Given the description of an element on the screen output the (x, y) to click on. 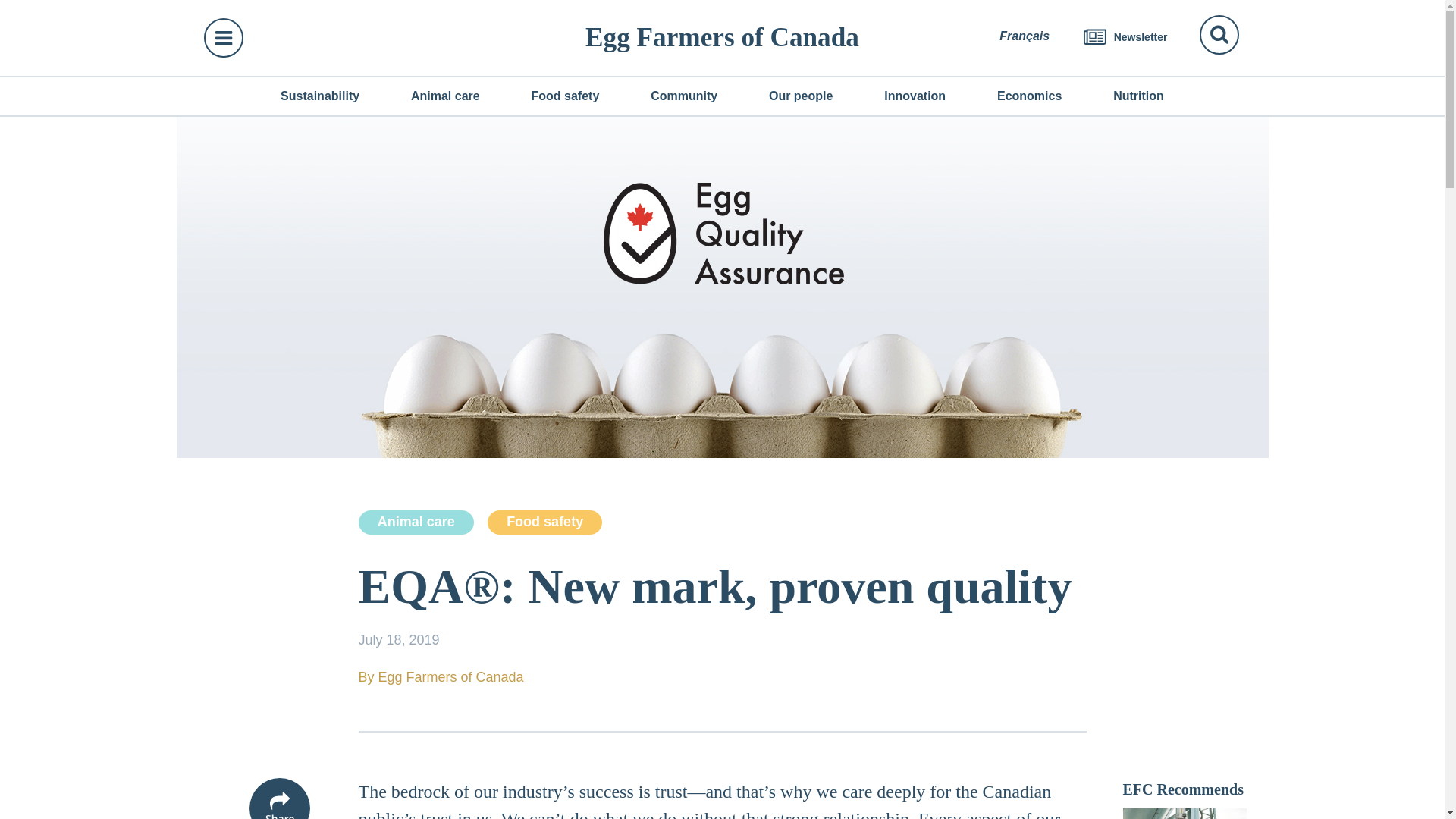
Nutrition (1138, 96)
Economics (1029, 96)
Sustainability (319, 96)
Animal care (445, 96)
Newsletter (1125, 37)
Food safety (544, 522)
Search (1219, 34)
Innovation (915, 96)
Animal care (415, 522)
Egg Farmers of Canada (722, 37)
Search (1219, 34)
By Egg Farmers of Canada (722, 677)
Our people (800, 96)
Food safety (564, 96)
Community (684, 96)
